Given the description of an element on the screen output the (x, y) to click on. 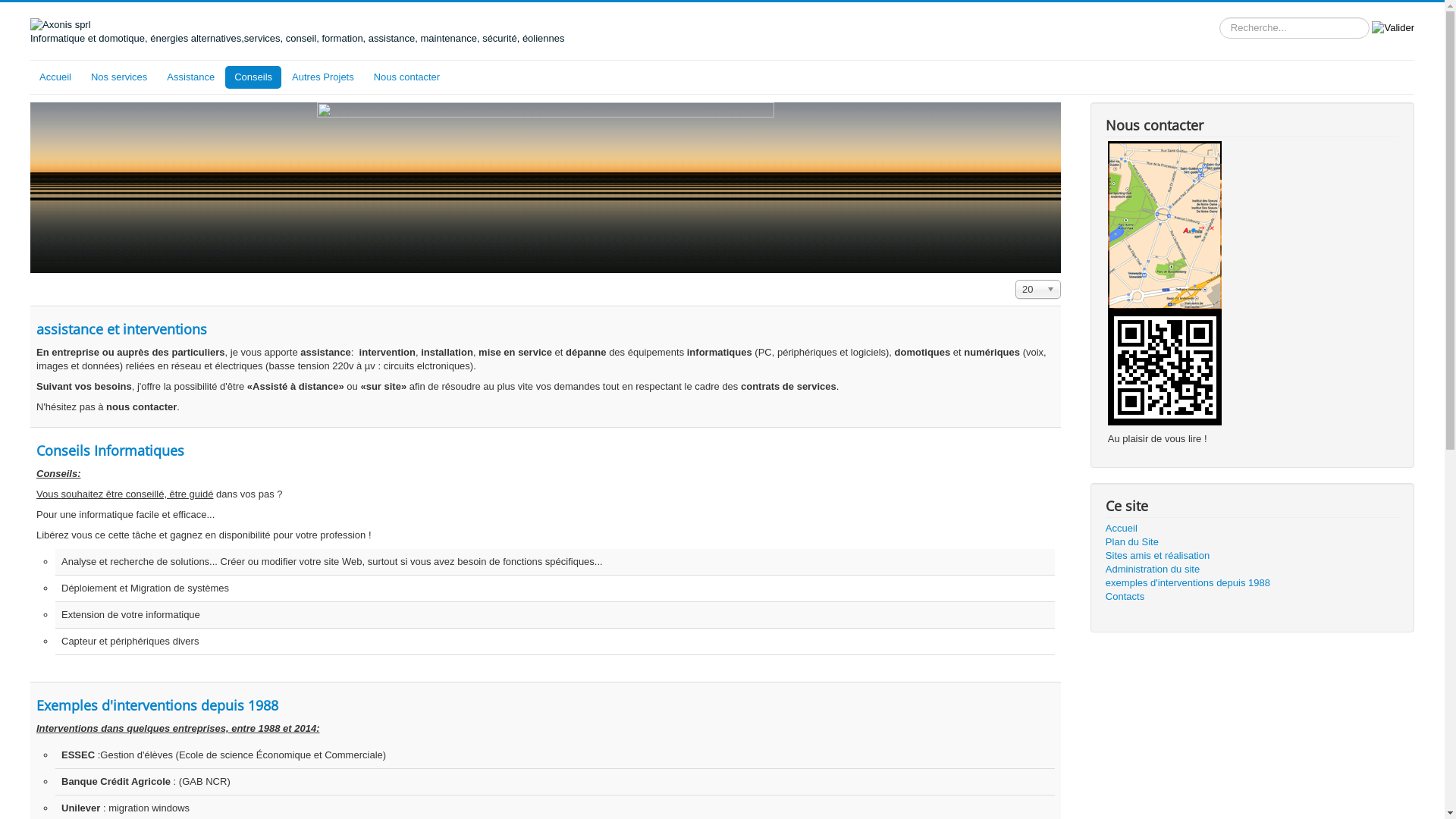
exemples d'interventions depuis 1988 Element type: text (1252, 582)
Autres Projets Element type: text (322, 76)
Exemples d'interventions depuis 1988 Element type: text (157, 705)
assistance et interventions Element type: text (121, 329)
Accueil Element type: text (55, 76)
Plan du Site Element type: text (1252, 542)
Conseils Element type: text (253, 76)
Contacts Element type: text (1252, 596)
Administration du site Element type: text (1252, 569)
20 Element type: text (1037, 288)
Conseils Informatiques Element type: text (110, 450)
Accueil Element type: text (1252, 528)
Nos services Element type: text (118, 76)
Nous contacter Element type: text (406, 76)
Assistance Element type: text (190, 76)
